Given the description of an element on the screen output the (x, y) to click on. 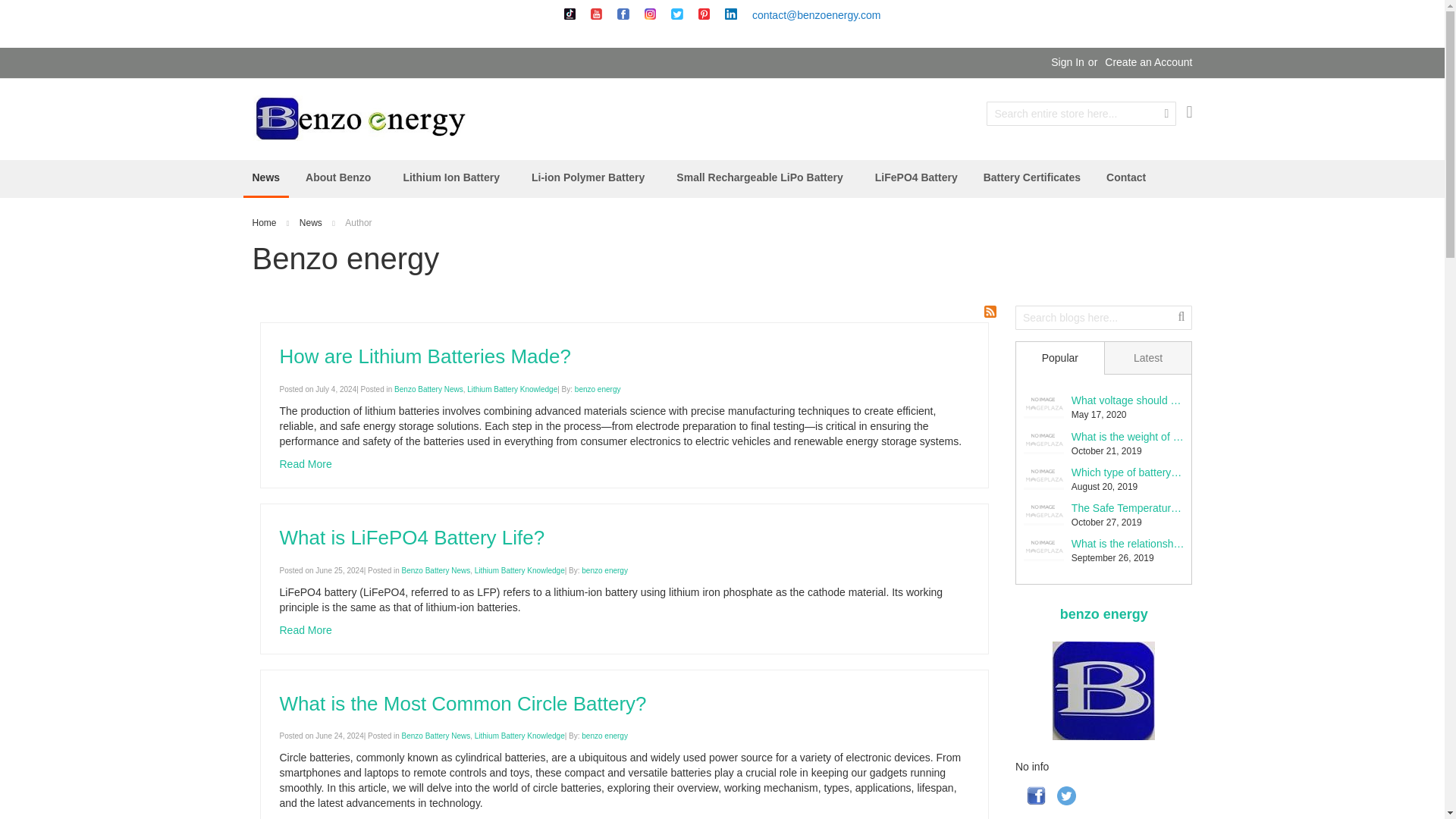
Li-ion Polymer Battery (590, 177)
Lipo battery manufacturer Linkedin (730, 13)
About Benzo (341, 177)
facebook of  lithium battery manufacturer (622, 13)
News (310, 222)
polymer li-ion battery youtube links (596, 15)
benzo energy twitter (676, 13)
benzoenergy.com (359, 117)
Go to Home Page (263, 222)
Li-polymer battery Manufacturer pinterest (704, 15)
Create an Account (1148, 62)
Lithium Ion Battery (454, 177)
Lithium Ion Polymer Battery Manufacturer tiktok links (569, 15)
polymer li-ion Cell Manufacturer tiktok links (569, 13)
Li-ion battery Factory pinterest (704, 13)
